Given the description of an element on the screen output the (x, y) to click on. 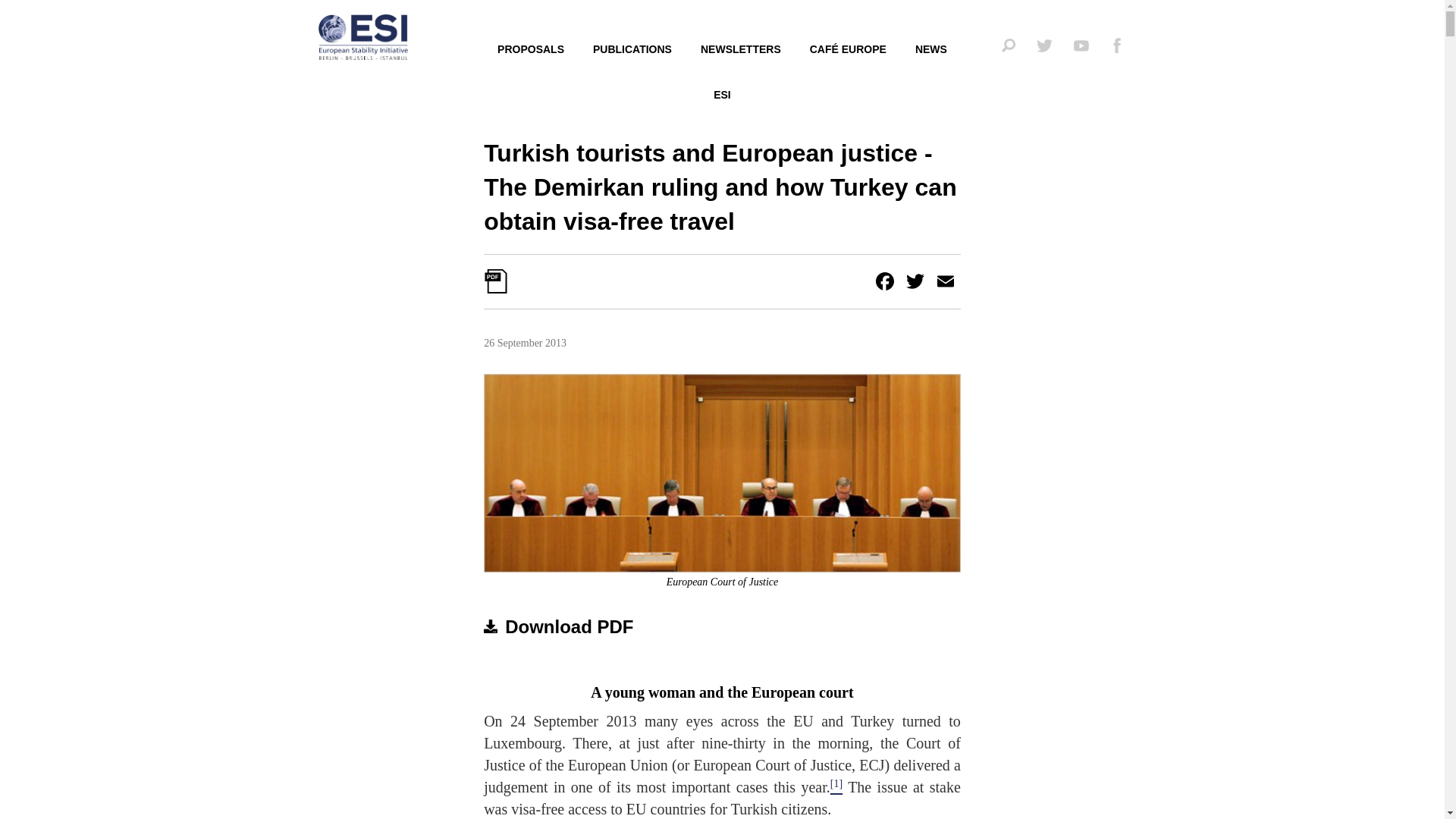
NEWSLETTERS (740, 49)
Email (945, 280)
Download PDF (558, 626)
Twitter (914, 280)
PROPOSALS (530, 49)
NEWS (930, 49)
Facebook (884, 280)
PUBLICATIONS (631, 49)
